Given the description of an element on the screen output the (x, y) to click on. 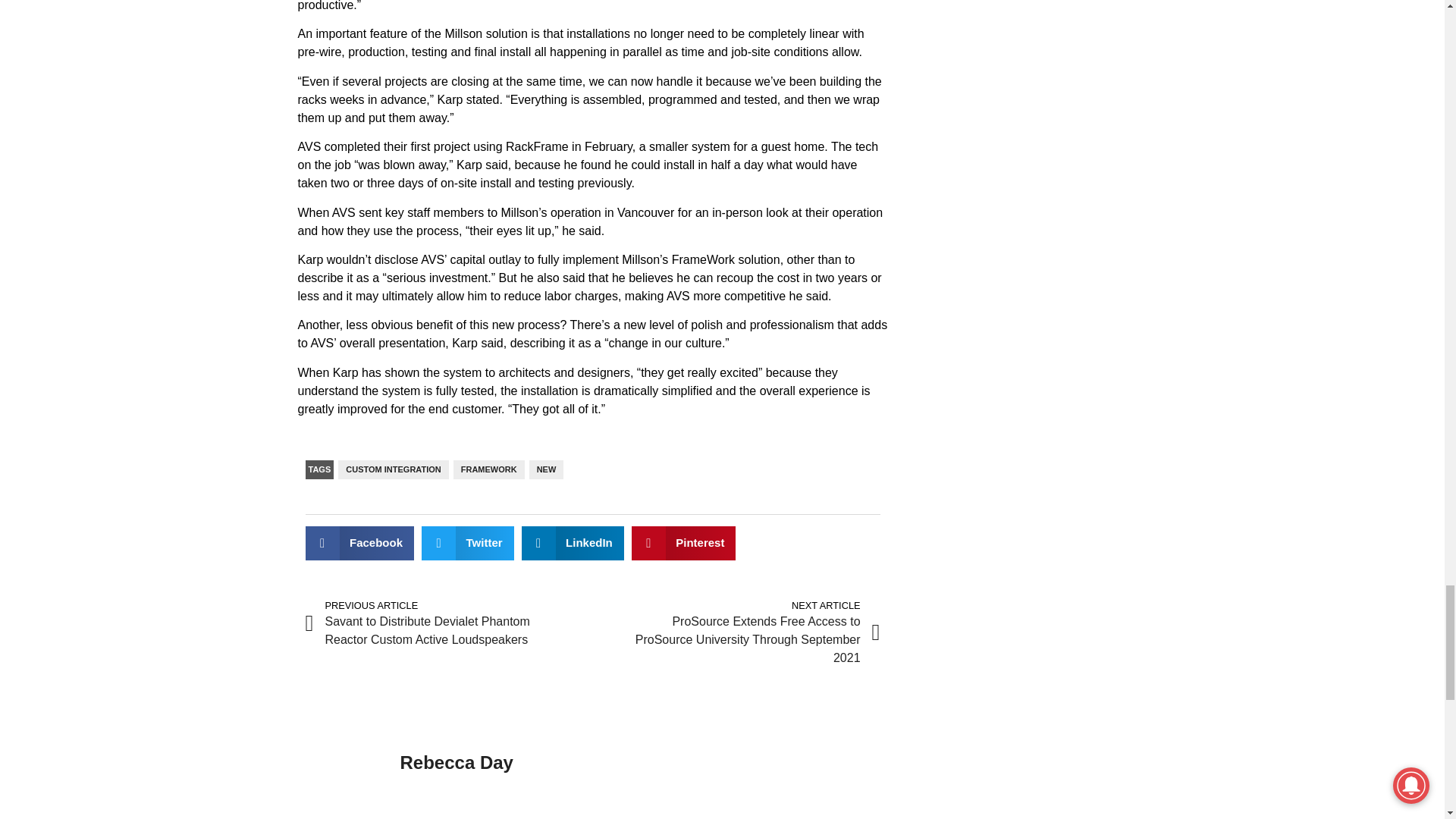
CUSTOM INTEGRATION (392, 469)
FRAMEWORK (488, 469)
